Given the description of an element on the screen output the (x, y) to click on. 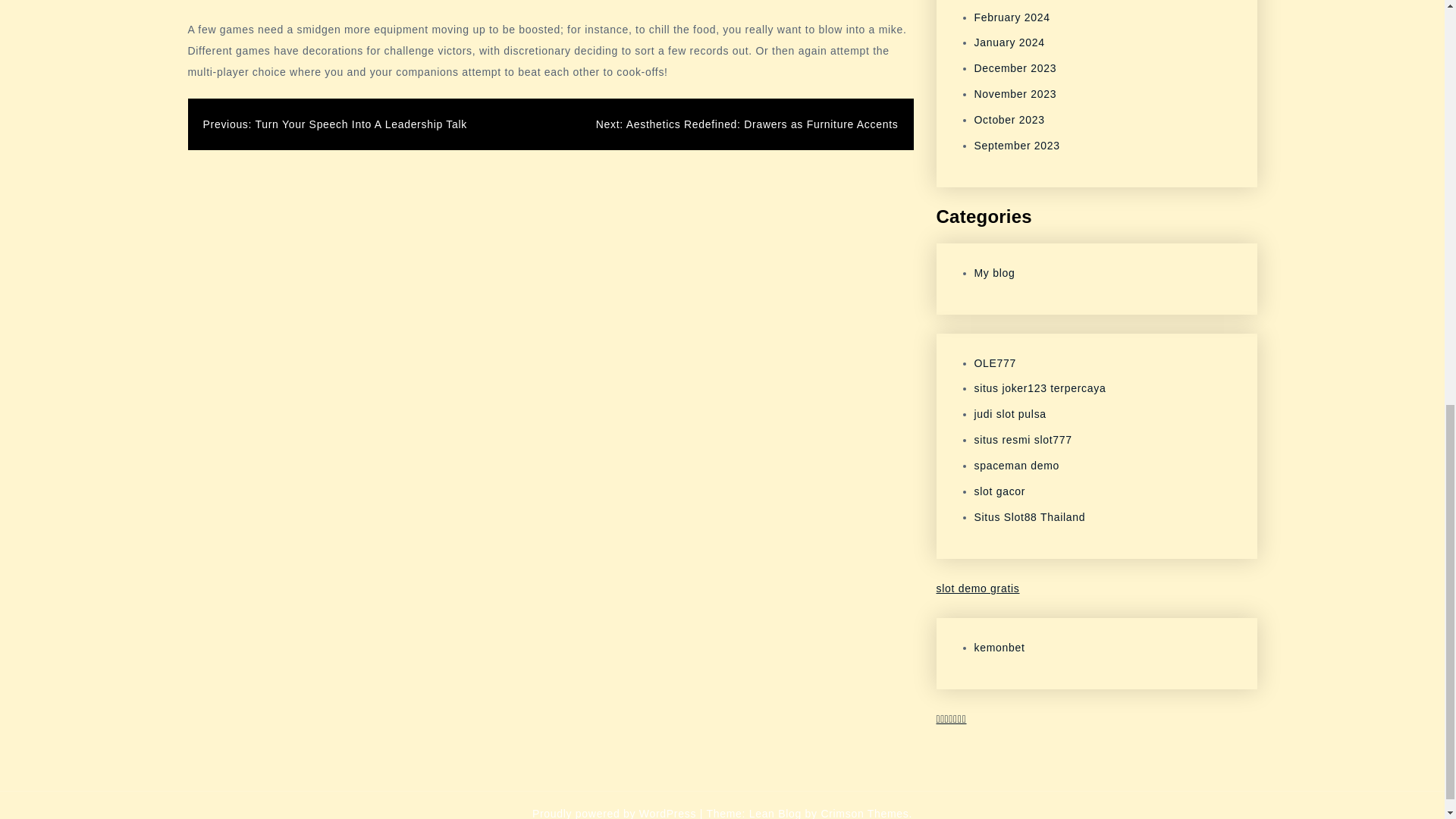
slot gacor (999, 491)
Situs Slot88 Thailand (1029, 517)
Next: Aesthetics Redefined: Drawers as Furniture Accents (746, 123)
kemonbet (999, 647)
My blog (994, 272)
February 2024 (1011, 17)
spaceman demo (1016, 465)
October 2023 (1008, 119)
OLE777 (995, 363)
situs resmi slot777 (1022, 439)
